Given the description of an element on the screen output the (x, y) to click on. 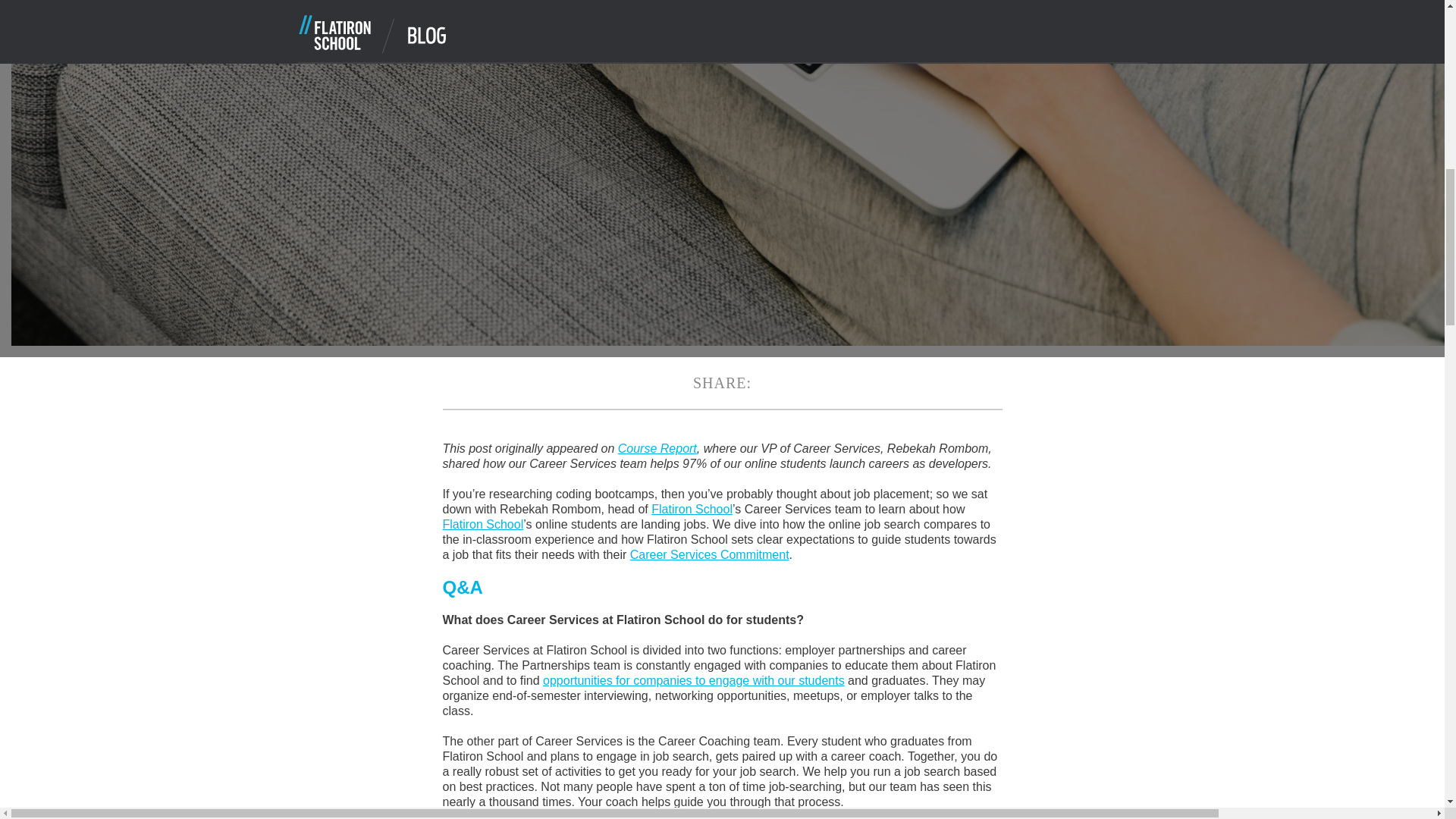
opportunities for companies to engage with our students (693, 680)
Flatiron School (483, 523)
Career Services Commitment (709, 554)
Flatiron School (691, 508)
Course Report (657, 448)
